Given the description of an element on the screen output the (x, y) to click on. 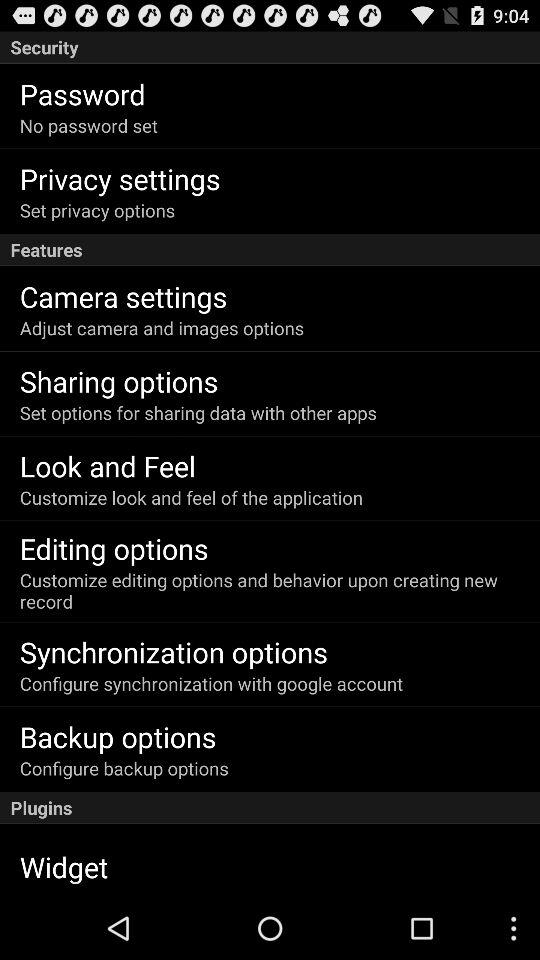
launch icon above the backup options app (211, 683)
